Given the description of an element on the screen output the (x, y) to click on. 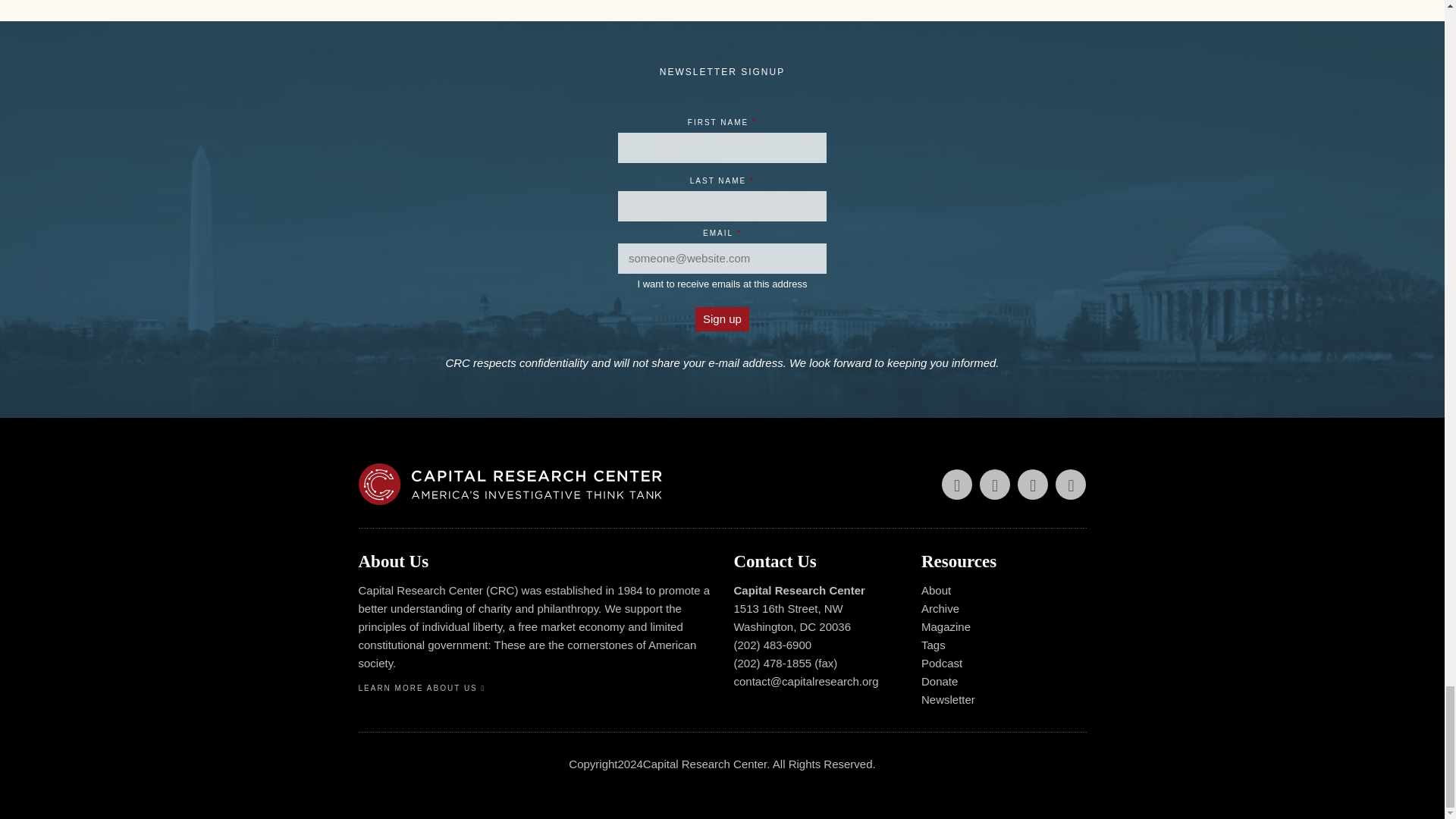
Follow Us on Instagram (1070, 484)
Sign up (722, 319)
Follow Us on Facebook (994, 484)
Follow Us on Twitter (957, 484)
Follow Us on YouTube (1032, 484)
